Given the description of an element on the screen output the (x, y) to click on. 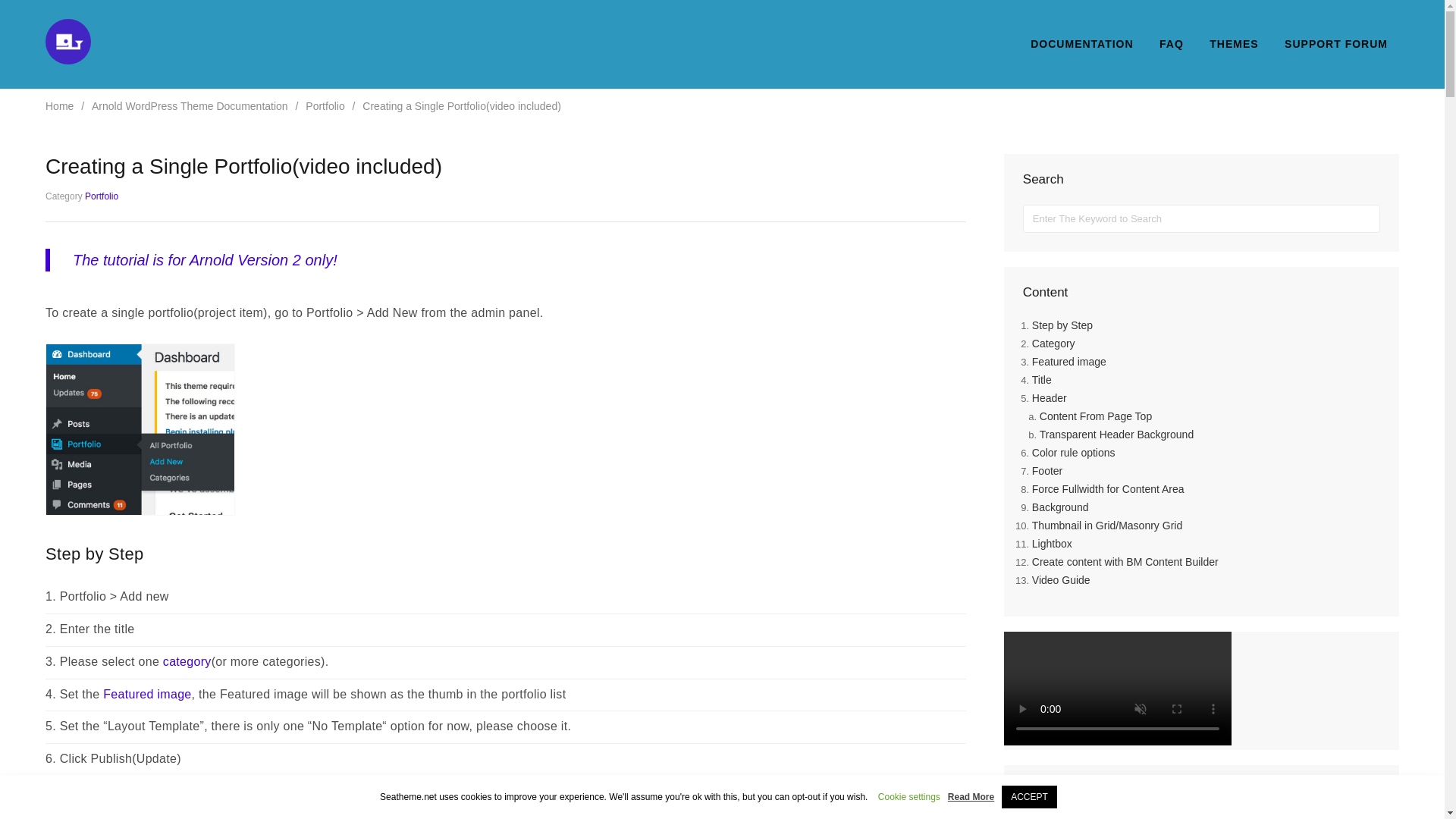
THEMES (1233, 43)
Portfolio (326, 105)
DOCUMENTATION (1081, 43)
Title (1206, 379)
Portfolio (100, 195)
Step by Step (1206, 324)
Arnold WordPress Theme Documentation (191, 105)
SeaTheme Documentation (67, 60)
Featured image (146, 694)
SUPPORT FORUM (1335, 43)
